Given the description of an element on the screen output the (x, y) to click on. 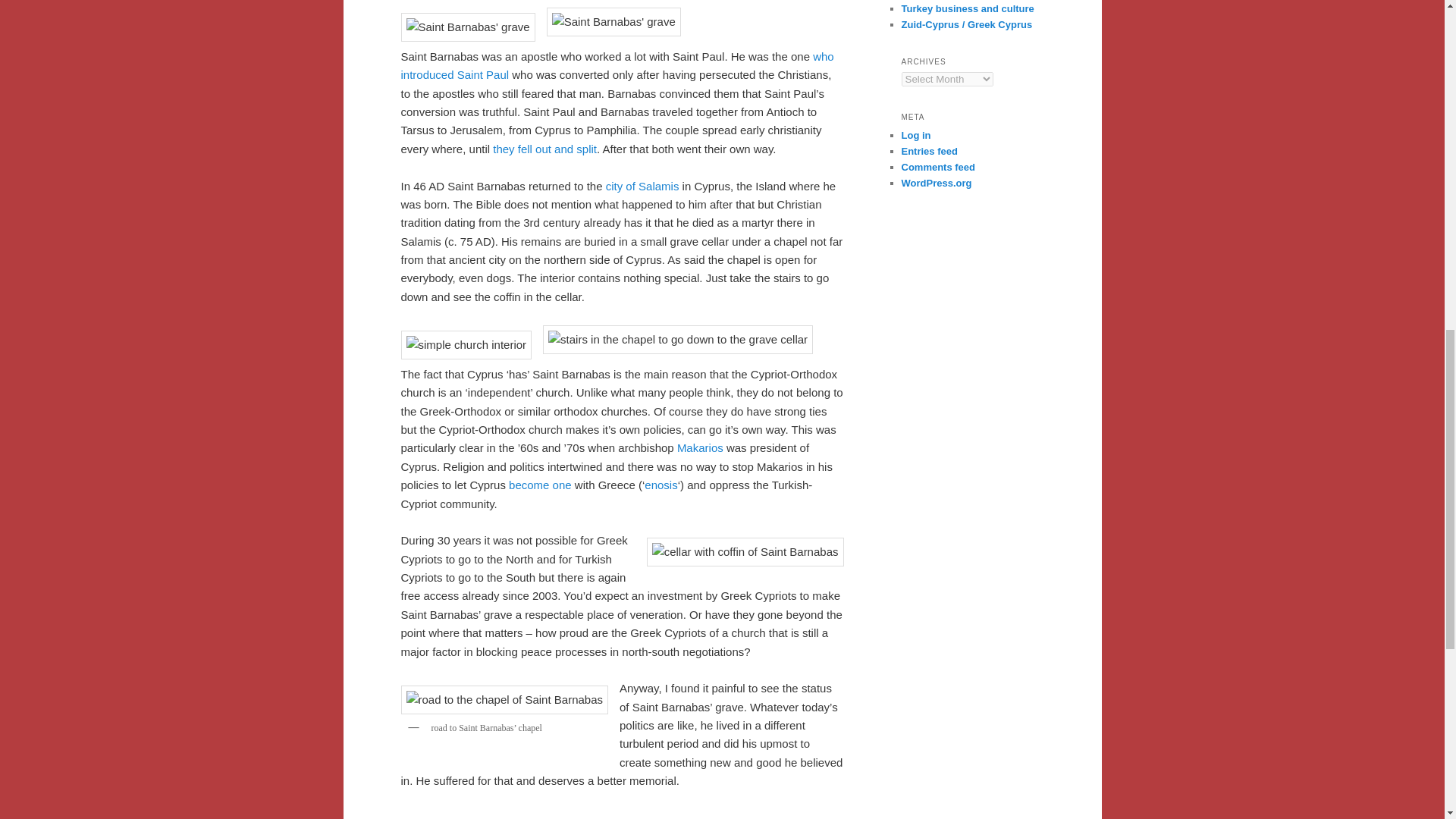
become one (540, 484)
who introduced Saint Paul (616, 65)
enosis (661, 484)
Makarios (700, 447)
city of Salamis (642, 185)
they fell out and split (544, 148)
